Given the description of an element on the screen output the (x, y) to click on. 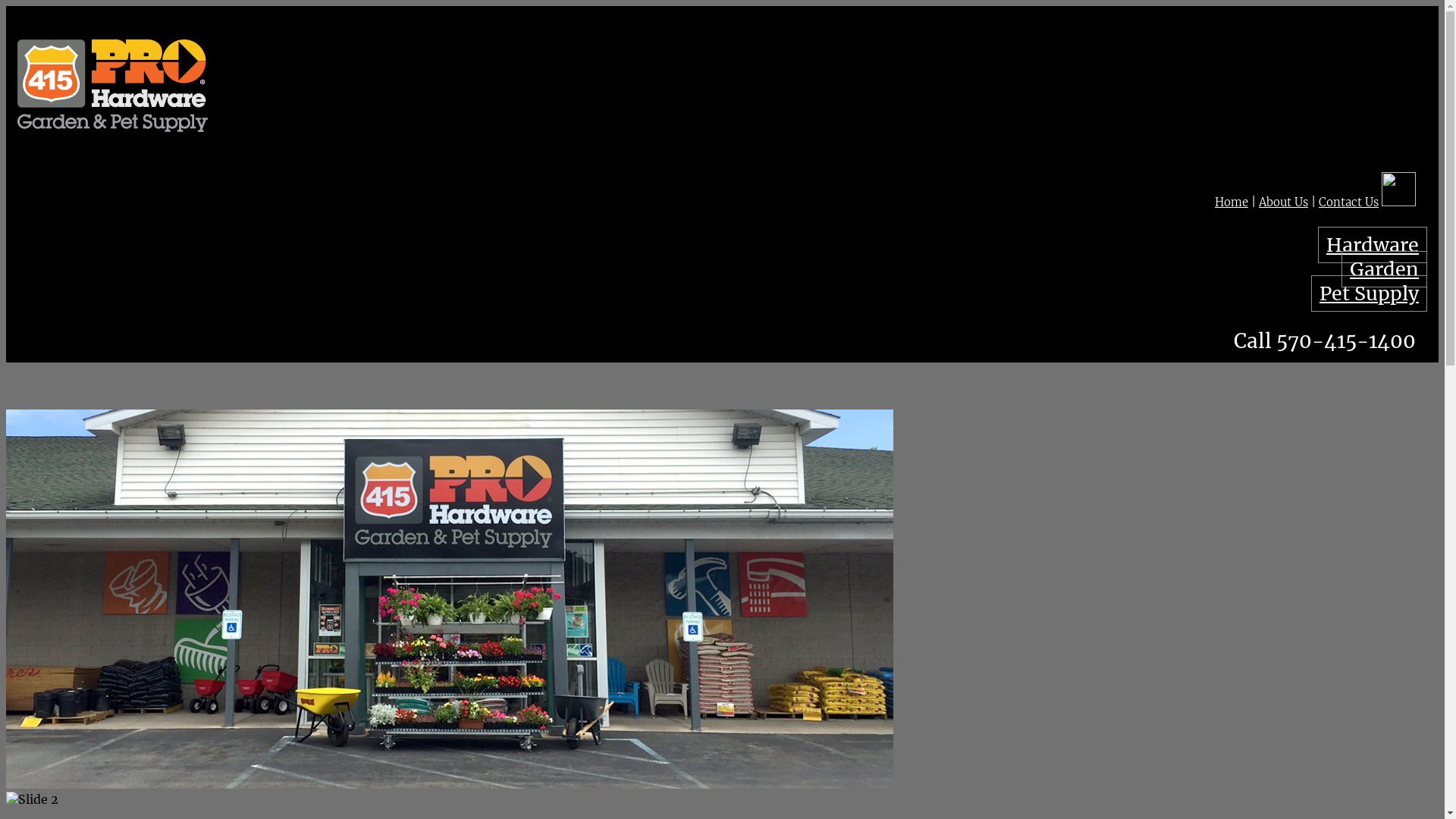
Pet Supply Element type: text (1369, 293)
Home Element type: text (1231, 201)
Contact Us Element type: text (1348, 201)
Hardware Element type: text (1372, 244)
Garden Element type: text (1384, 269)
About Us Element type: text (1283, 201)
